Given the description of an element on the screen output the (x, y) to click on. 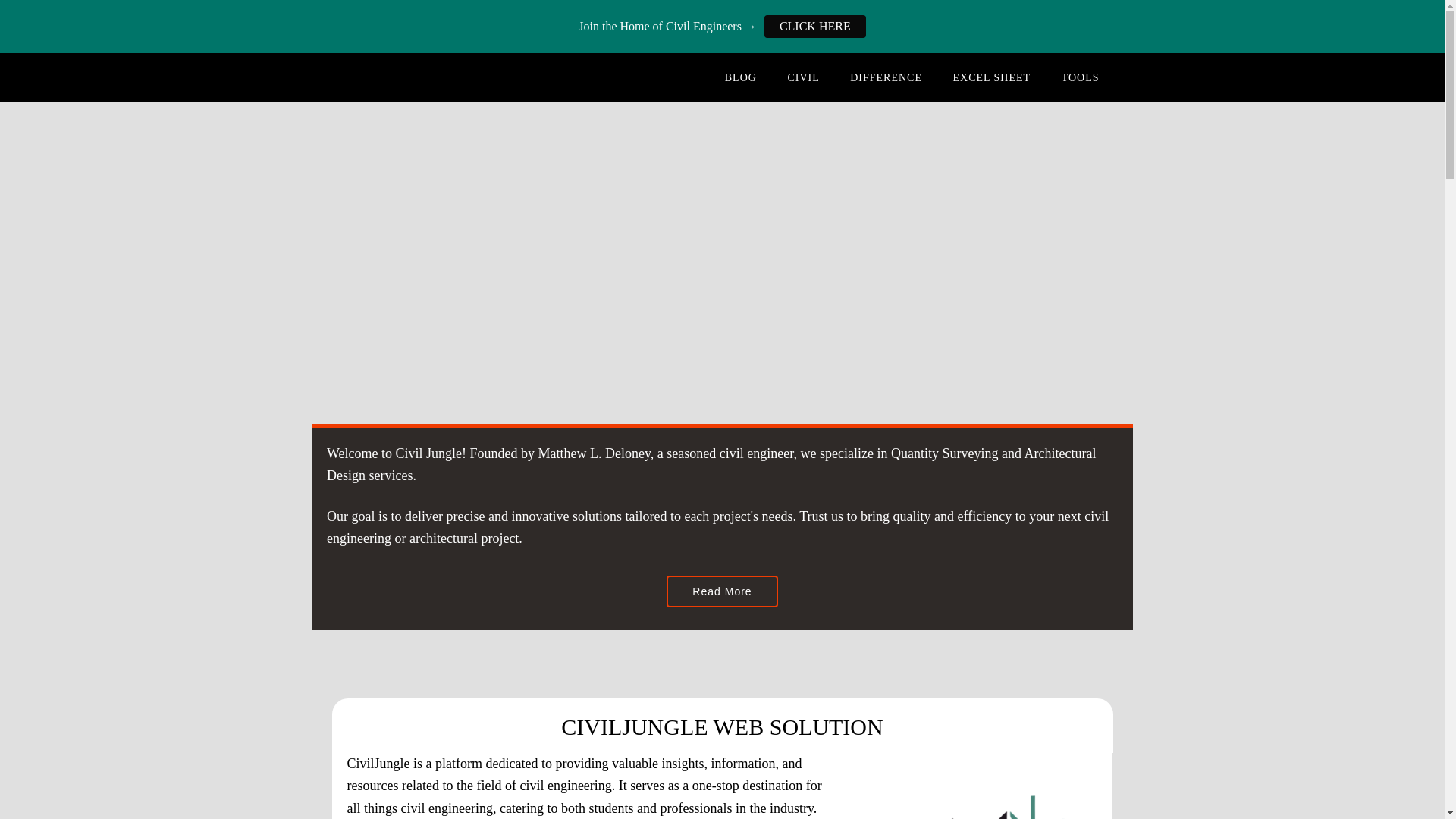
CIVILJUNGLE (453, 77)
CIVIL (802, 77)
BLOG (740, 77)
